Given the description of an element on the screen output the (x, y) to click on. 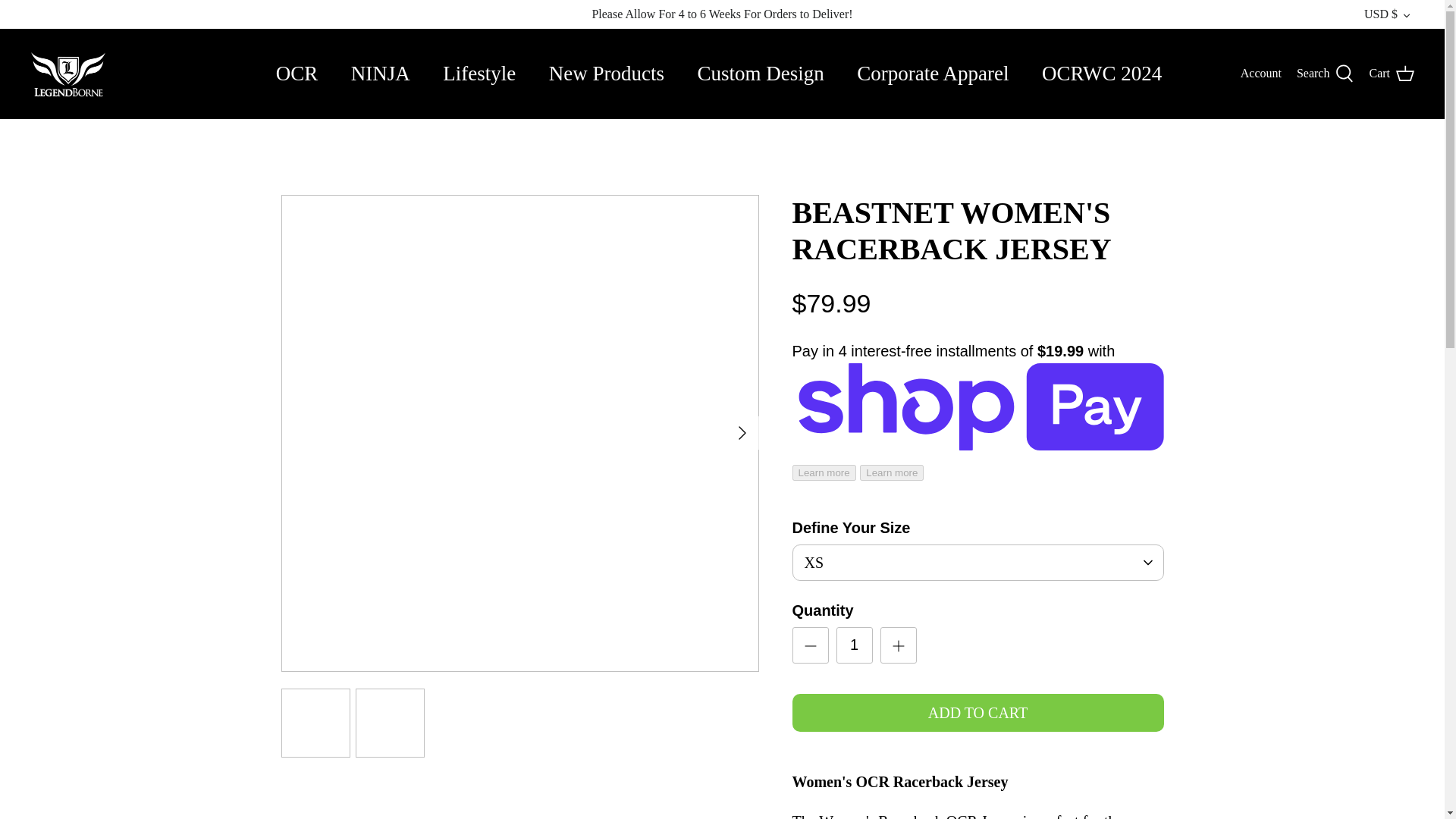
Down (1406, 14)
1 (853, 645)
Minus (809, 646)
RIGHT (741, 432)
LegendBorne (68, 73)
Plus (897, 646)
